Given the description of an element on the screen output the (x, y) to click on. 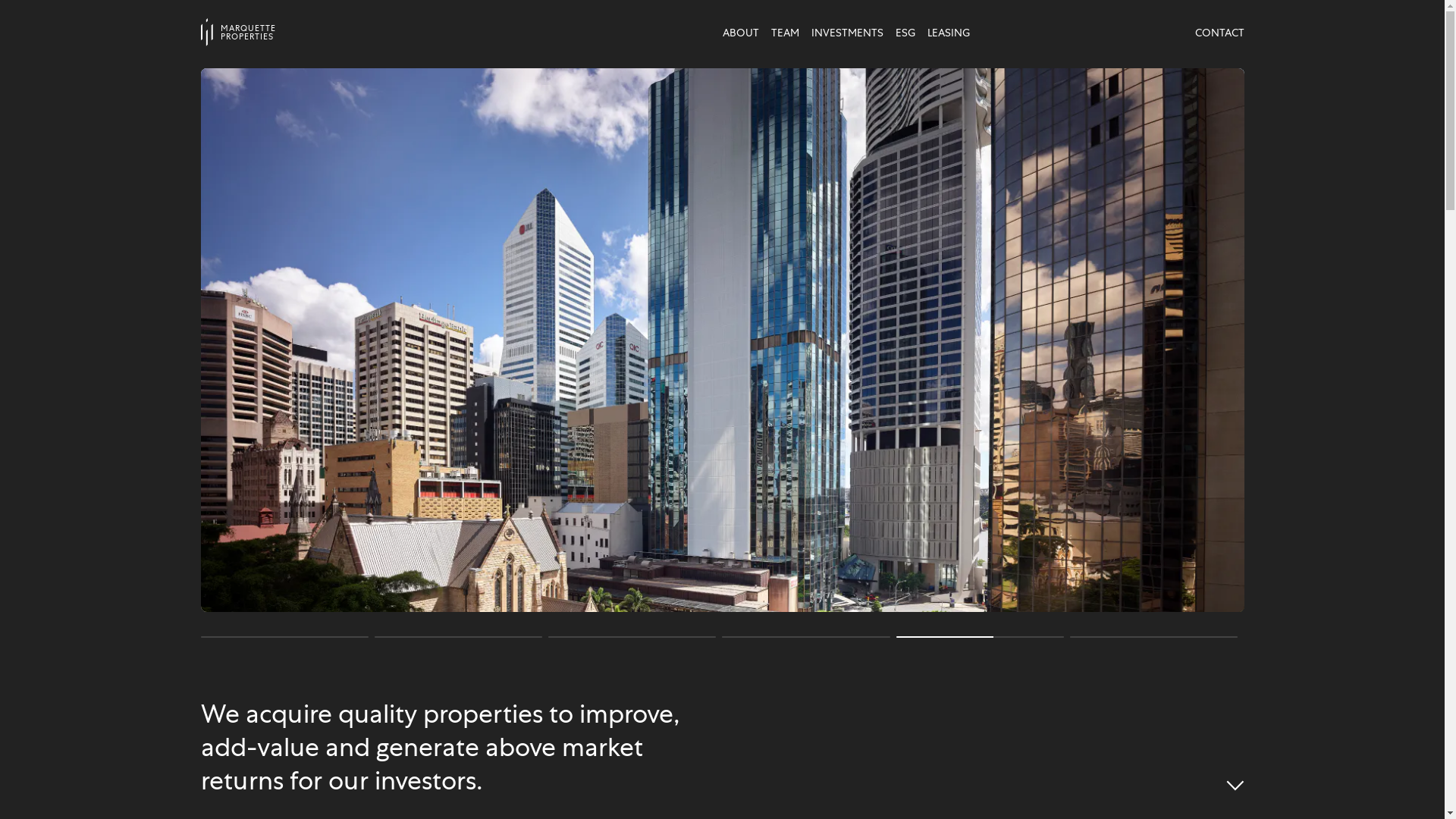
LEASING Element type: text (947, 32)
ESG Element type: text (904, 32)
MARQUETTE PROPERTIES Element type: text (330, 32)
ABOUT Element type: text (739, 32)
INVESTMENTS Element type: text (847, 32)
TEAM Element type: text (784, 32)
CONTACT Element type: text (1219, 32)
